Given the description of an element on the screen output the (x, y) to click on. 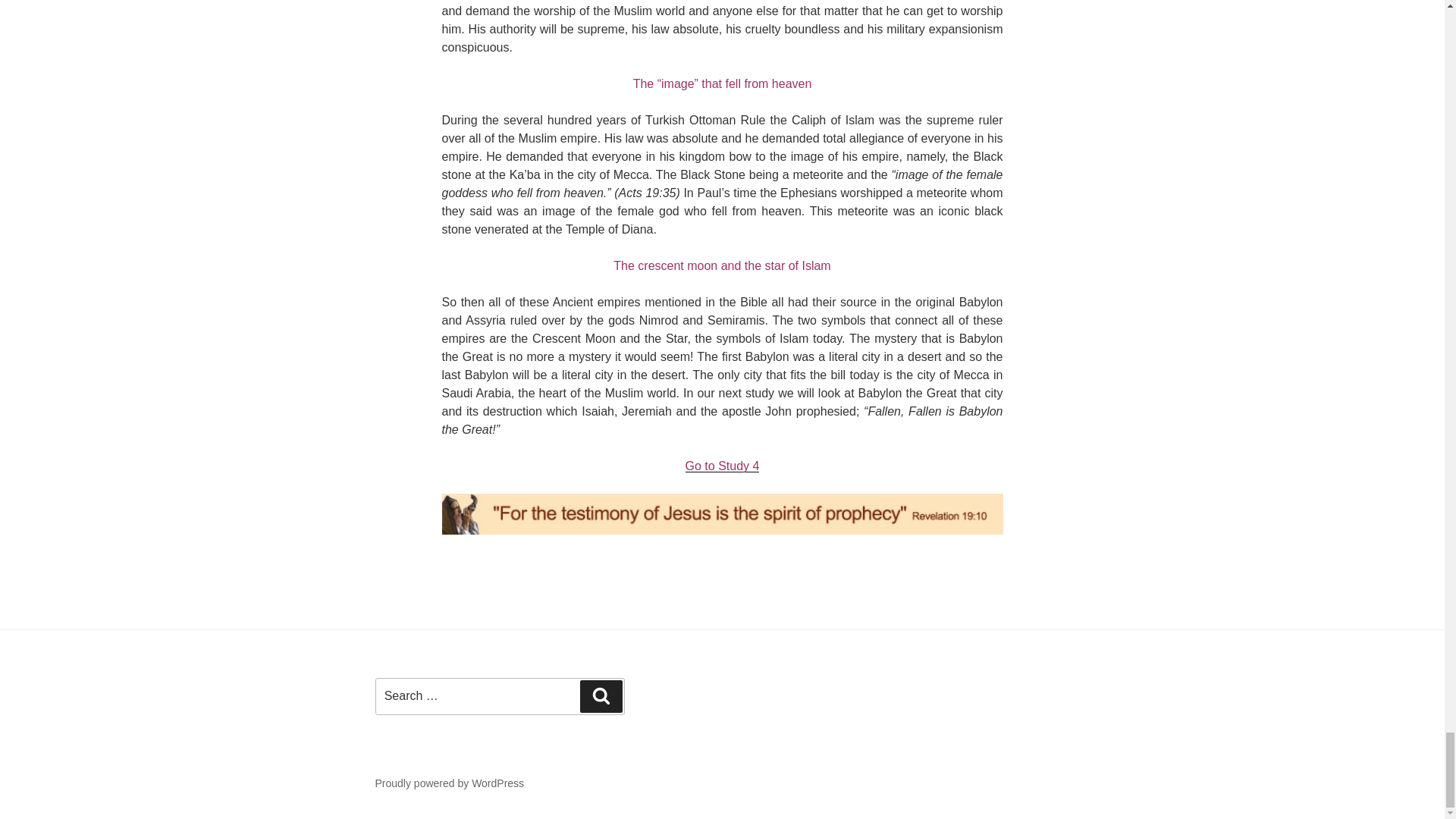
Search (601, 695)
Proudly powered by WordPress (449, 783)
Go to Study 4 (722, 465)
